Given the description of an element on the screen output the (x, y) to click on. 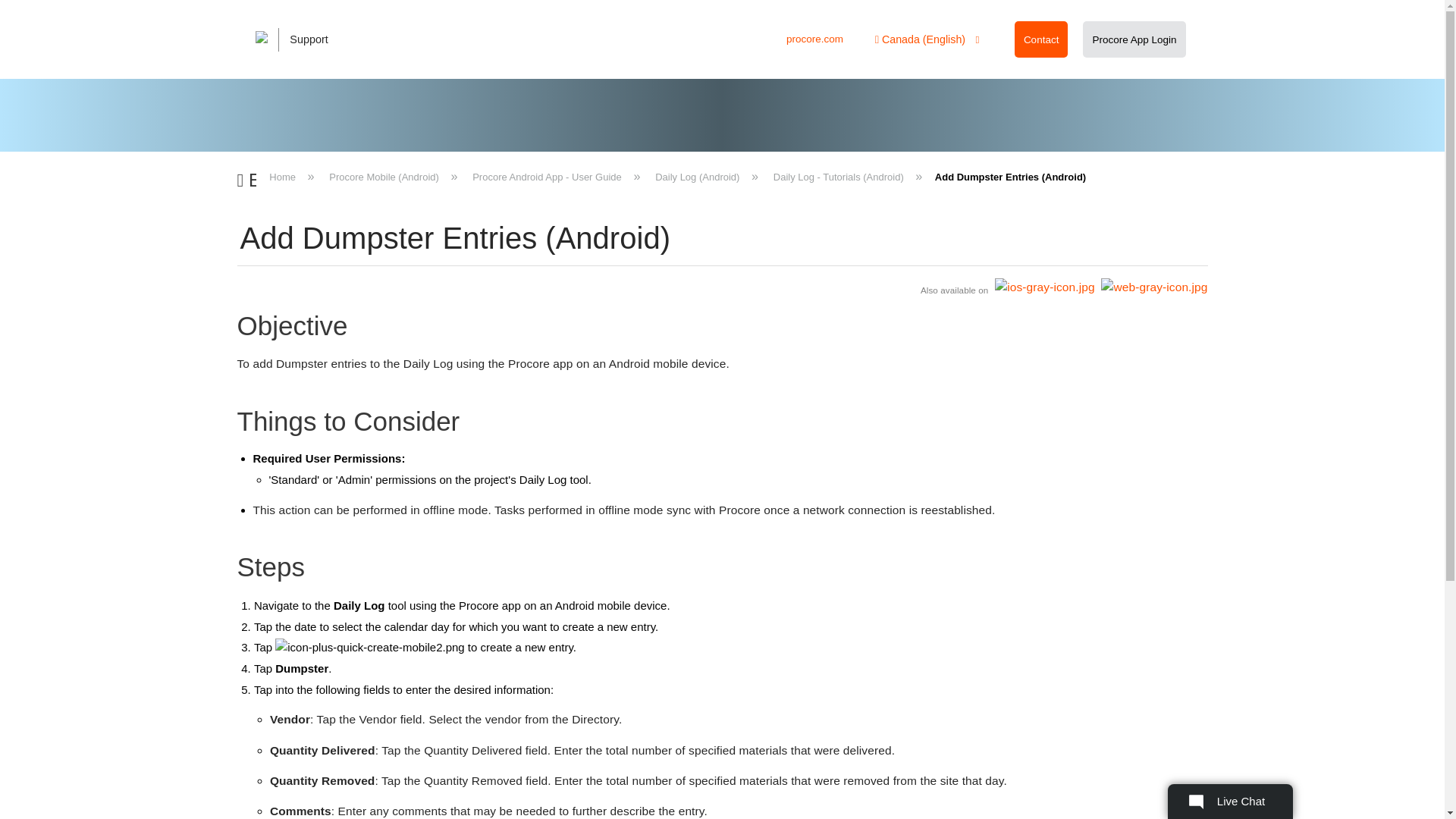
Live Chat (1229, 801)
Procore App Login (1134, 39)
Contact (1041, 39)
Click an icon to view tutorial (721, 287)
Support (301, 38)
Procore Android App - User Guide (547, 176)
procore.com (814, 39)
Home (283, 176)
